Given the description of an element on the screen output the (x, y) to click on. 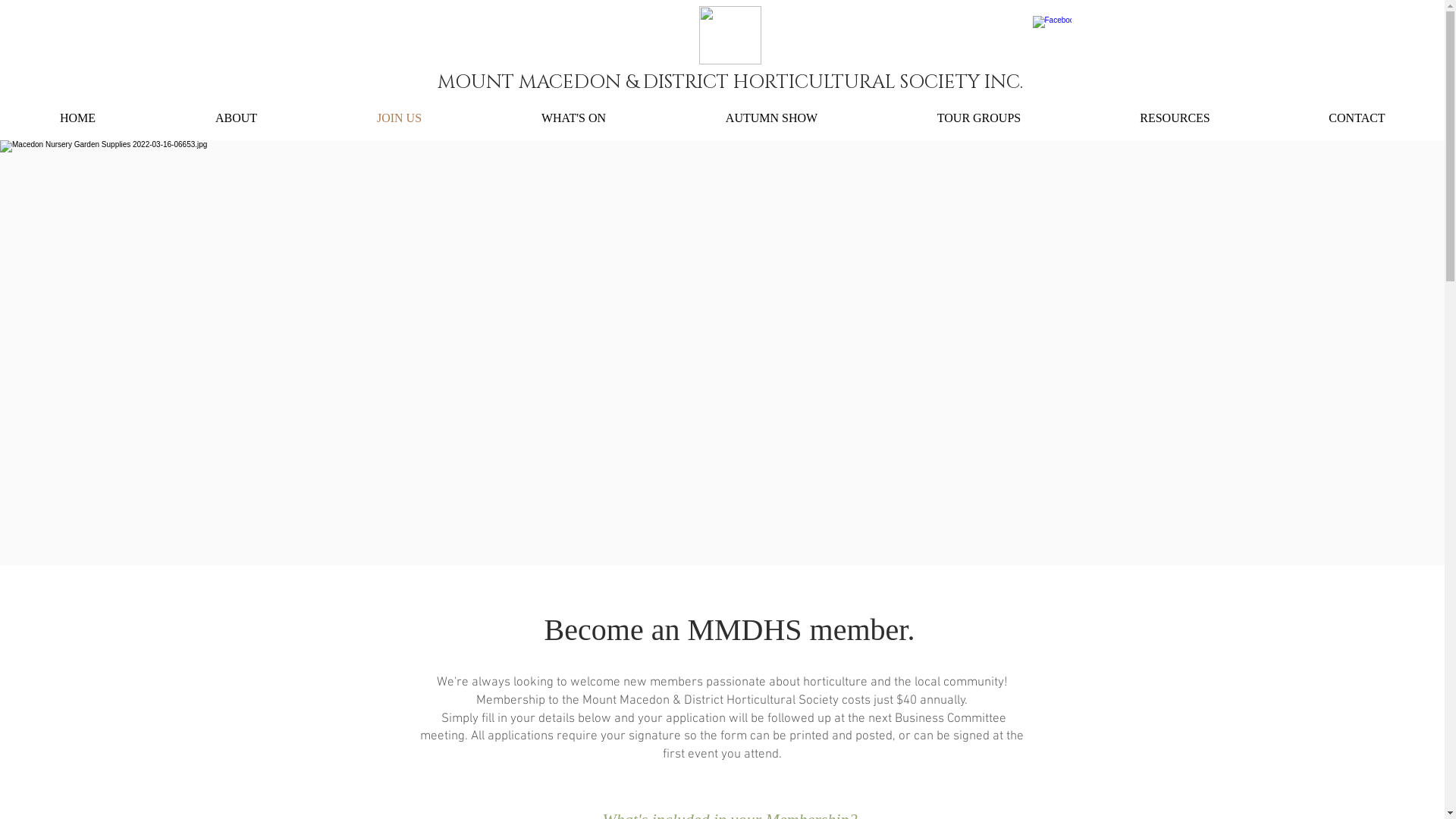
RESOURCES Element type: text (1174, 117)
CONTACT Element type: text (1356, 117)
MOUNT MACEDON & DISTRICT HORTICULTURAL SOCIETY INC. Element type: text (729, 83)
JOIN US Element type: text (398, 117)
AUTUMN SHOW Element type: text (771, 117)
ABOUT Element type: text (235, 117)
WHAT'S ON Element type: text (573, 117)
TOUR GROUPS Element type: text (978, 117)
HOME Element type: text (77, 117)
